Given the description of an element on the screen output the (x, y) to click on. 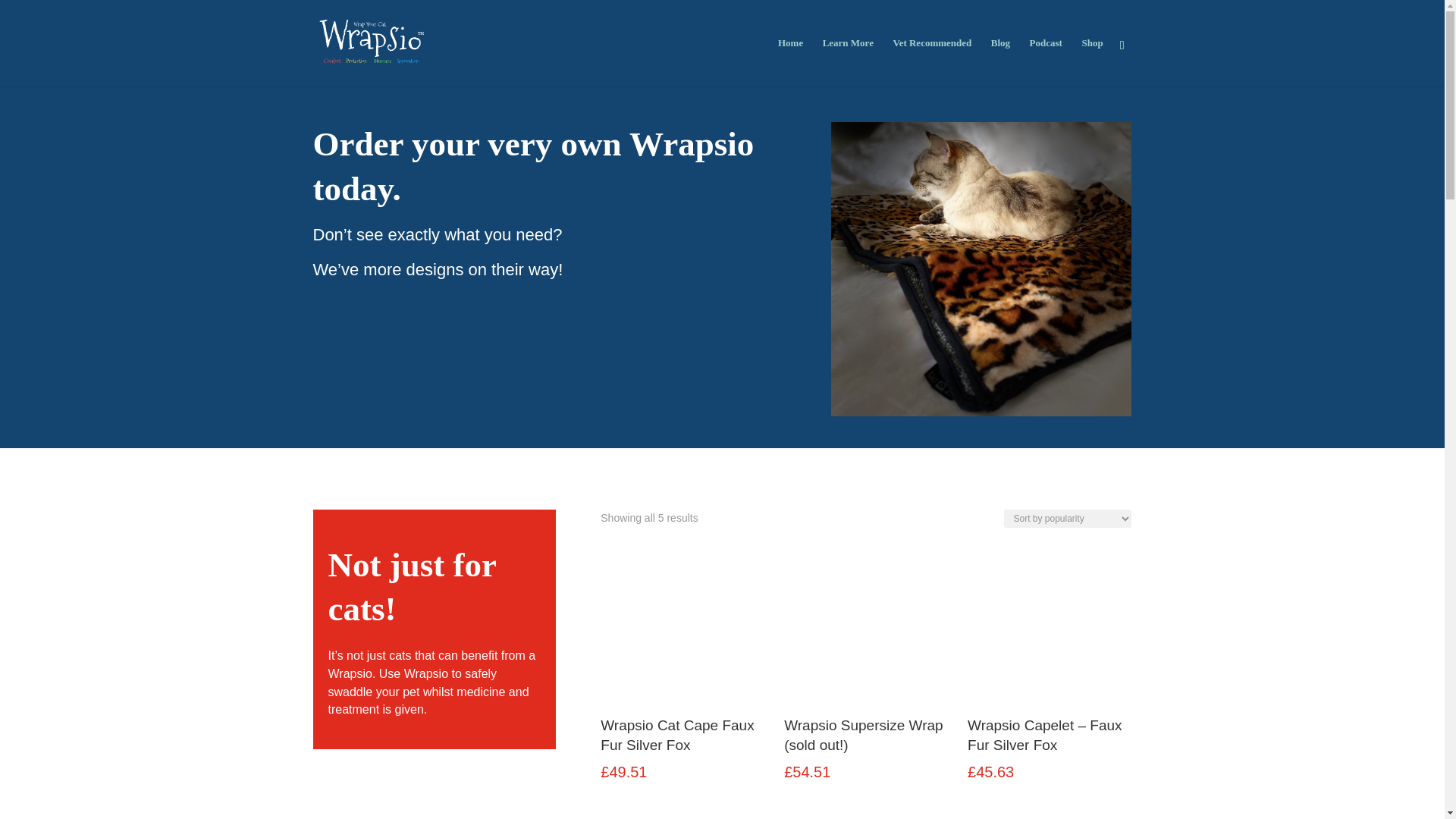
Coming soon! Wrapsio Poncho Wrap (865, 816)
Vet Recommended (931, 61)
Ewok Wrapsio leopard close up (981, 269)
Learn More (847, 61)
